Given the description of an element on the screen output the (x, y) to click on. 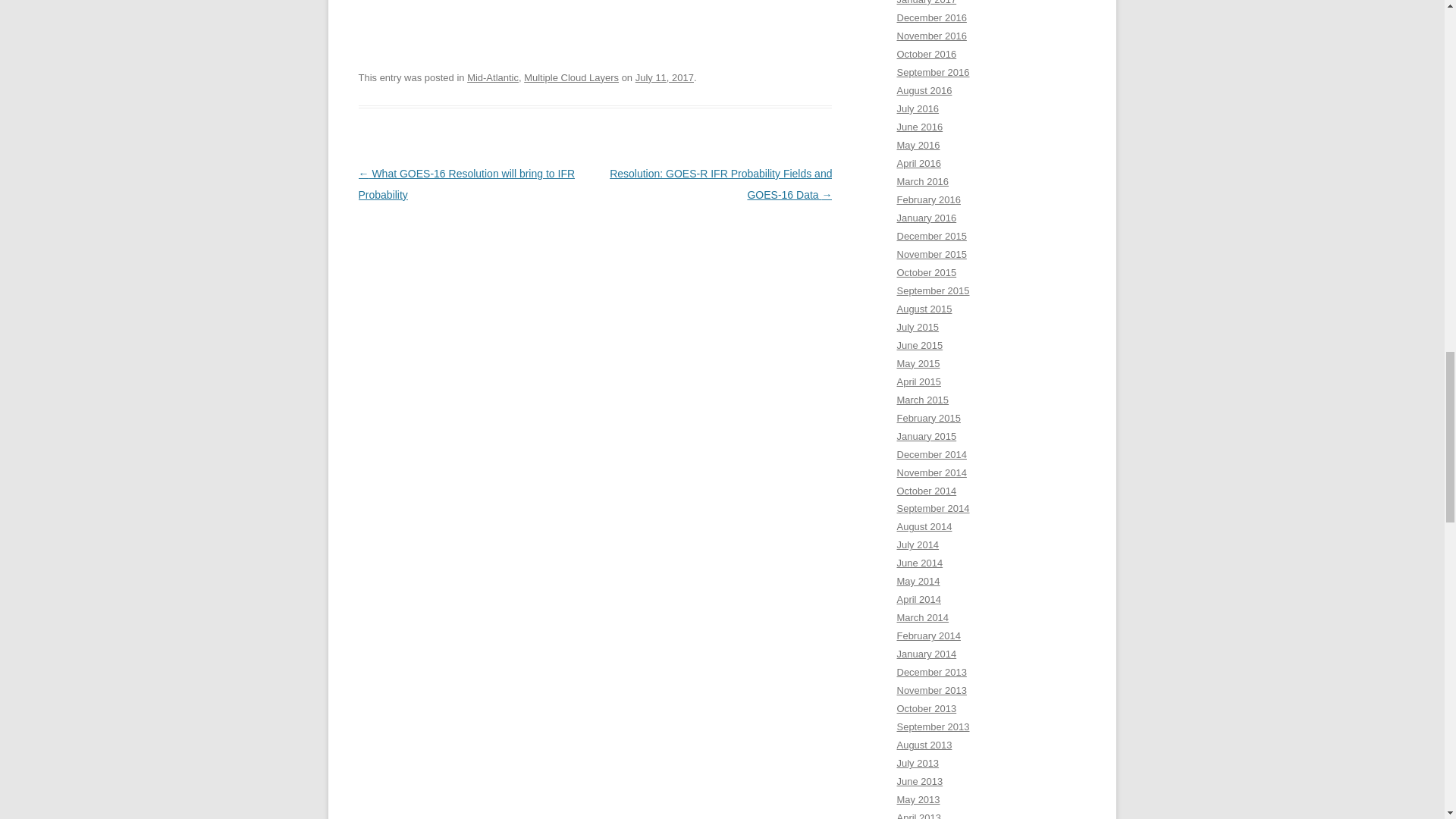
Multiple Cloud Layers (571, 77)
July 11, 2017 (664, 77)
Mid-Atlantic (492, 77)
4:23 pm (664, 77)
